Given the description of an element on the screen output the (x, y) to click on. 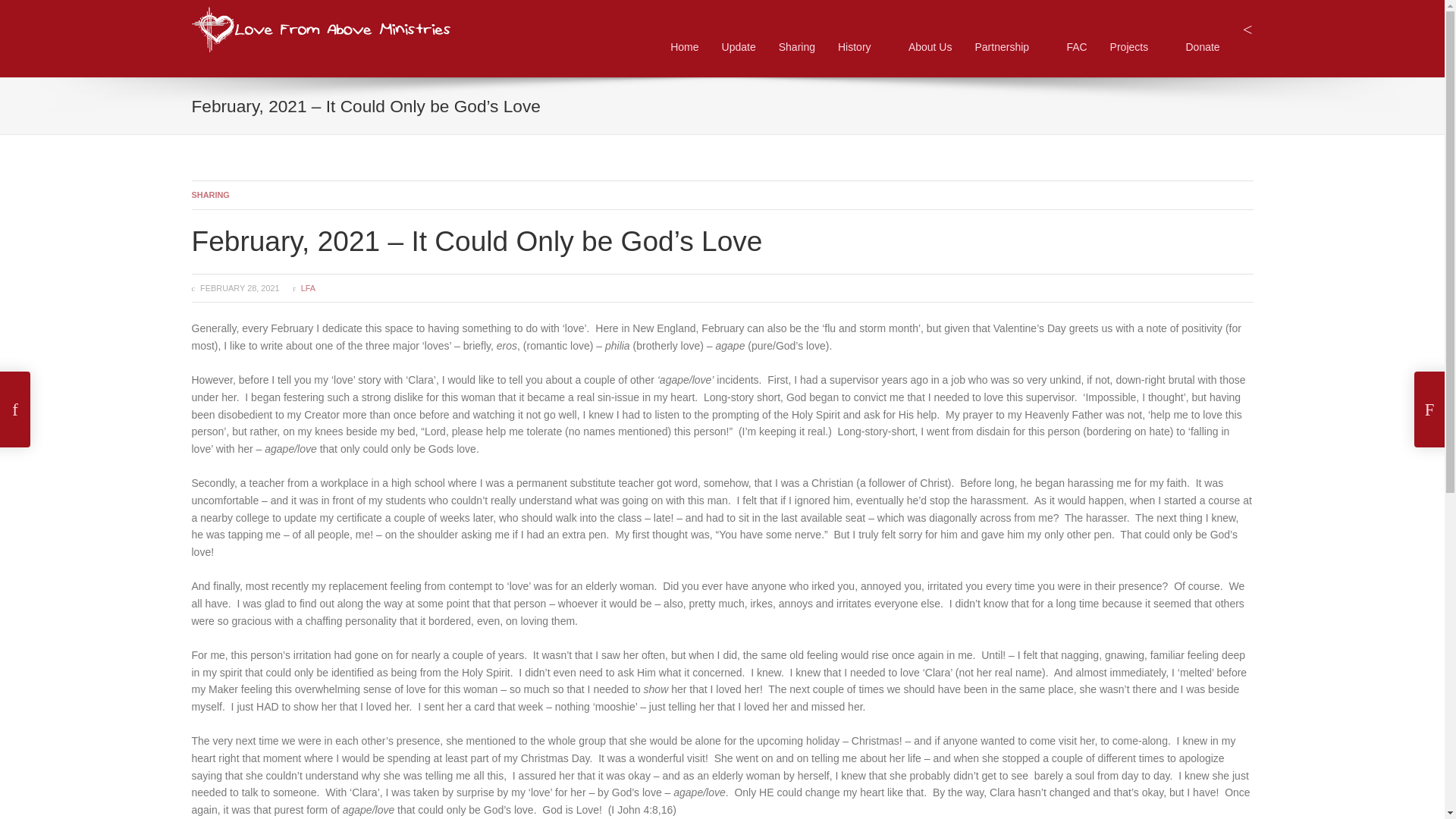
LFA (308, 287)
Donate (1202, 47)
Sharing (796, 47)
SHARING (209, 194)
Projects (1136, 47)
History (861, 47)
About Us (930, 47)
Partnership (1008, 47)
FAC (1076, 47)
Update (739, 47)
Home (684, 47)
